Given the description of an element on the screen output the (x, y) to click on. 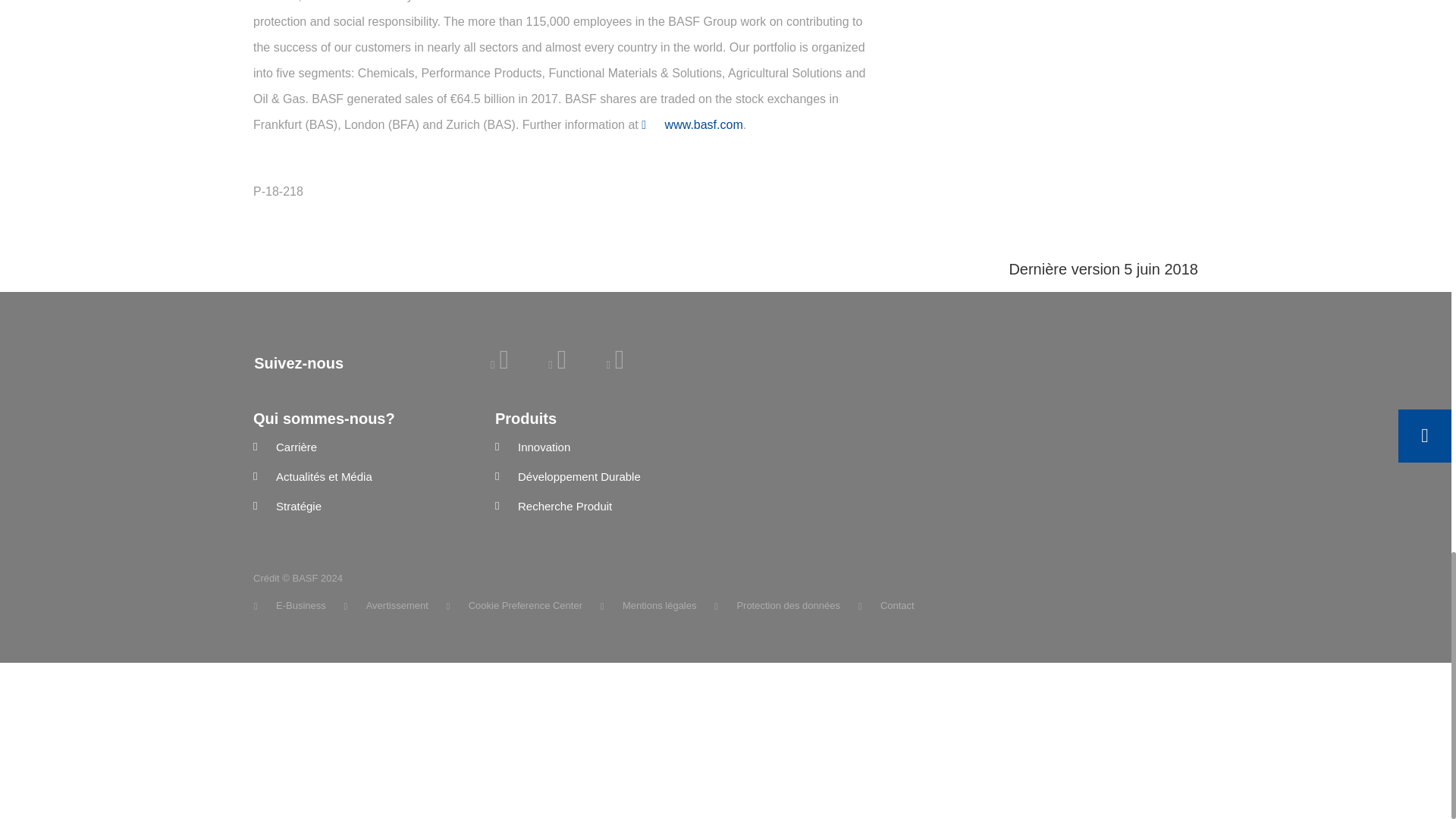
Join us in Facebook (557, 364)
E-Business (289, 605)
Avertissement (385, 605)
Join us in Instagram Africa (614, 364)
Recherche Produit (604, 506)
www.basf.com (692, 124)
Cookie Preference Center (514, 605)
Innovation (604, 447)
Join us in LinkedIn (499, 364)
